Given the description of an element on the screen output the (x, y) to click on. 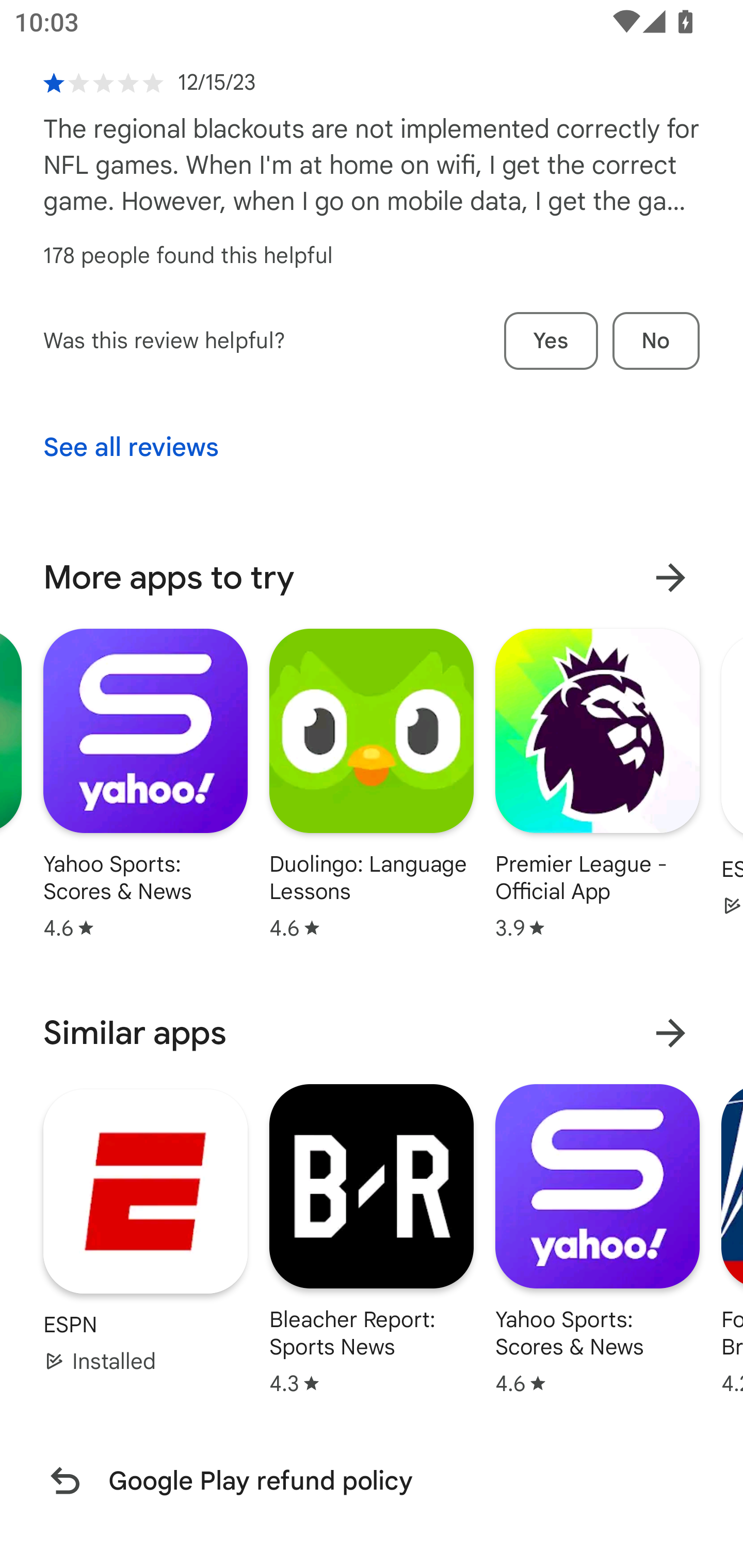
Yes (550, 340)
No (655, 340)
See all reviews (130, 447)
More apps to try More results for More apps to try (371, 577)
More results for More apps to try (670, 577)
Yahoo Sports: Scores & News
Star rating: 4.6
 (145, 783)
Duolingo: Language Lessons
Star rating: 4.6
 (371, 783)
Premier League - Official App
Star rating: 3.9
 (597, 783)
Similar apps More results for Similar apps (371, 1033)
More results for Similar apps (670, 1033)
ESPN
Installed
 (145, 1230)
Bleacher Report: Sports News
Star rating: 4.3
 (371, 1238)
Yahoo Sports: Scores & News
Star rating: 4.6
 (597, 1238)
Google Play refund policy (371, 1480)
